Given the description of an element on the screen output the (x, y) to click on. 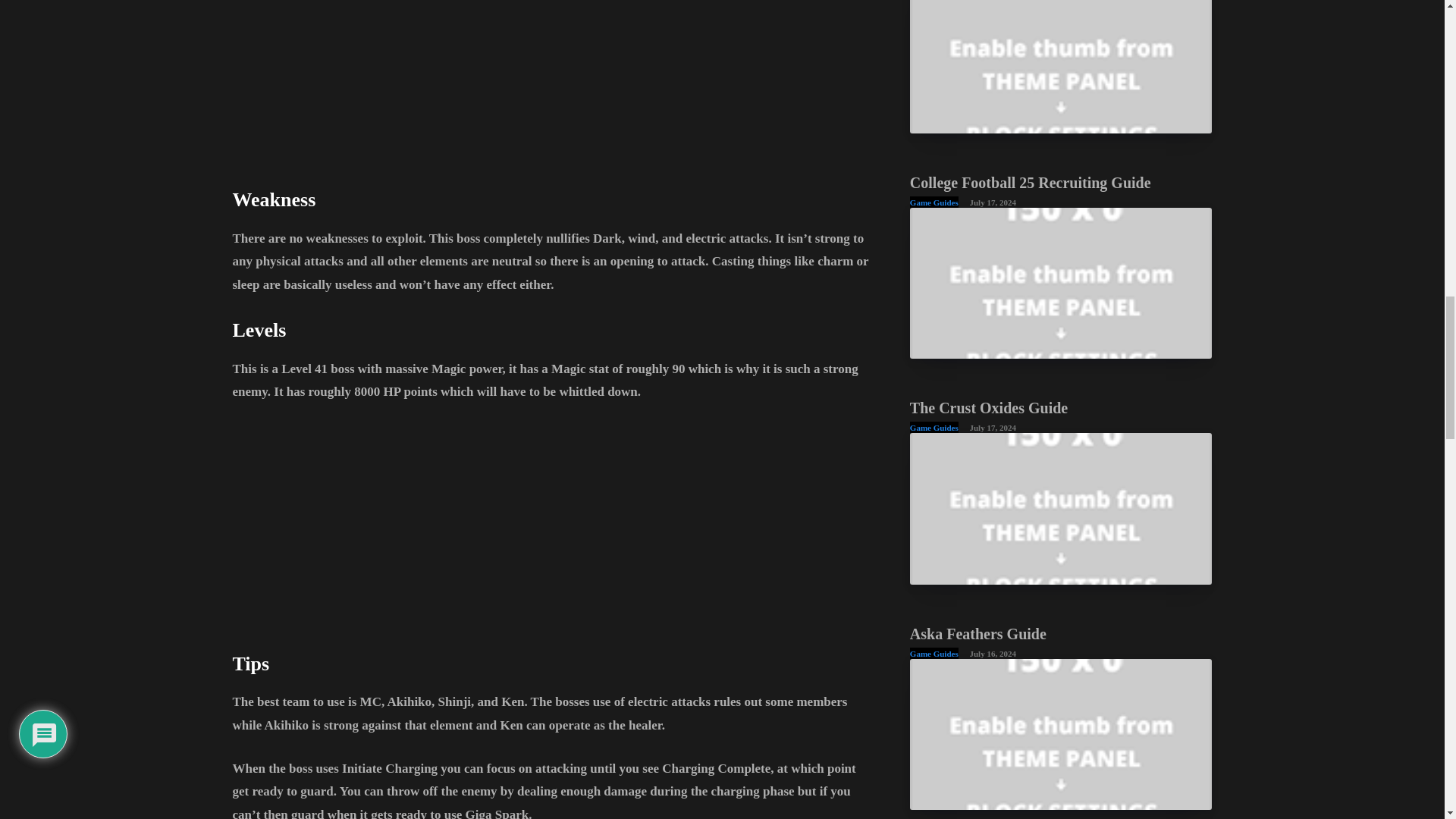
The Crust Oxides Guide (1061, 508)
The Crust Oxides Guide (988, 407)
College Football 25 Recruiting Guide (1030, 182)
Aska Feathers Guide (1061, 734)
College Football 25 Recruiting Guide (1061, 283)
